Given the description of an element on the screen output the (x, y) to click on. 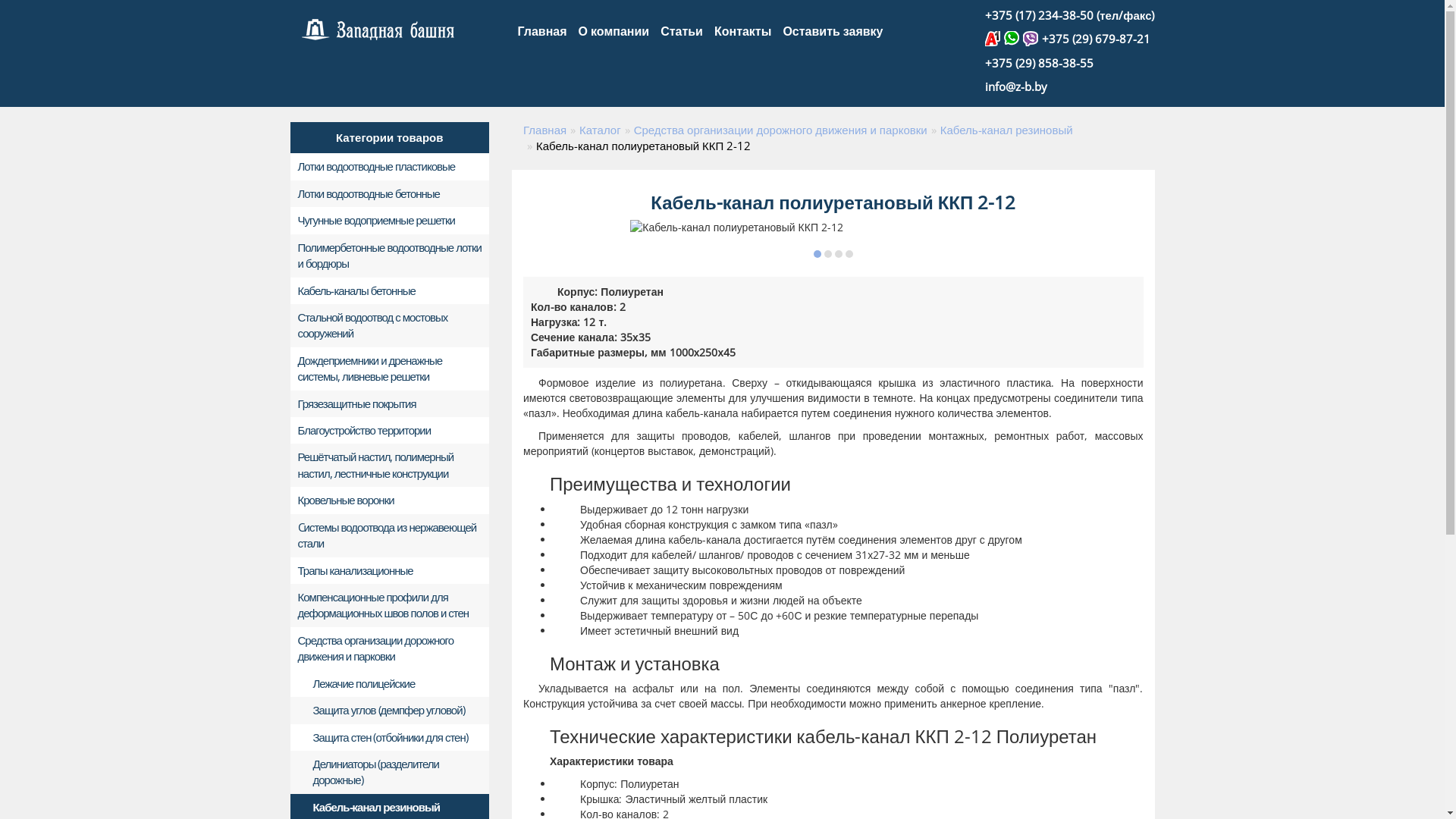
viber Element type: hover (1031, 38)
info@z-b.by Element type: text (1016, 86)
+375 (29) 858-38-55 Element type: text (1039, 62)
z-b.by Element type: hover (377, 30)
whatsap Element type: hover (1013, 38)
A1 Element type: hover (994, 38)
+375 (29) 679-87-21 Element type: text (1095, 38)
